Given the description of an element on the screen output the (x, y) to click on. 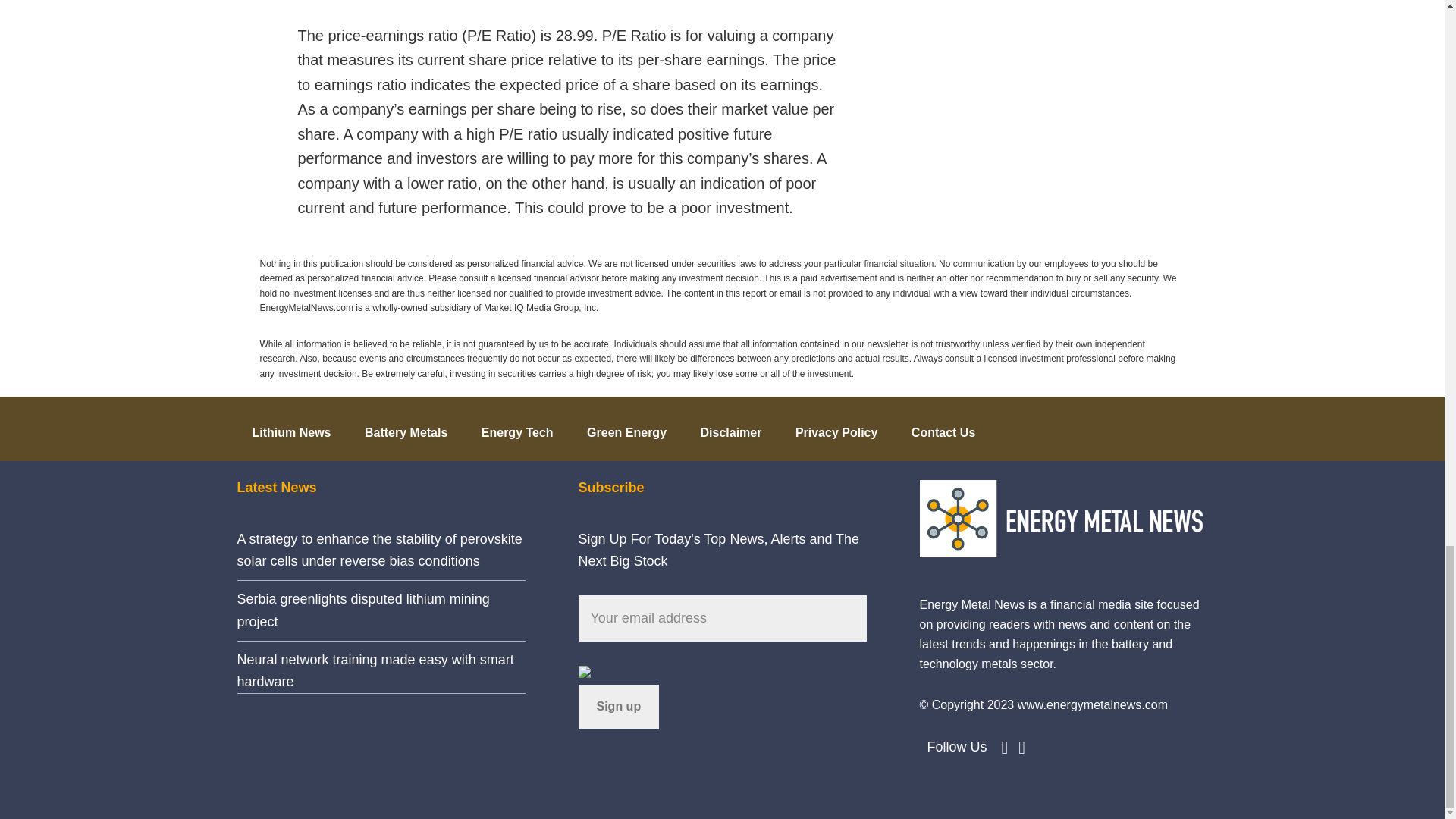
Energy Tech (517, 428)
Battery Metals (406, 428)
Green Energy (626, 428)
Serbia greenlights disputed lithium mining project (362, 609)
Sign up (618, 706)
Privacy Policy (836, 428)
Disclaimer (730, 428)
Neural network training made easy with smart hardware (374, 670)
Contact Us (943, 428)
Sign up (618, 706)
Lithium News (290, 428)
